Given the description of an element on the screen output the (x, y) to click on. 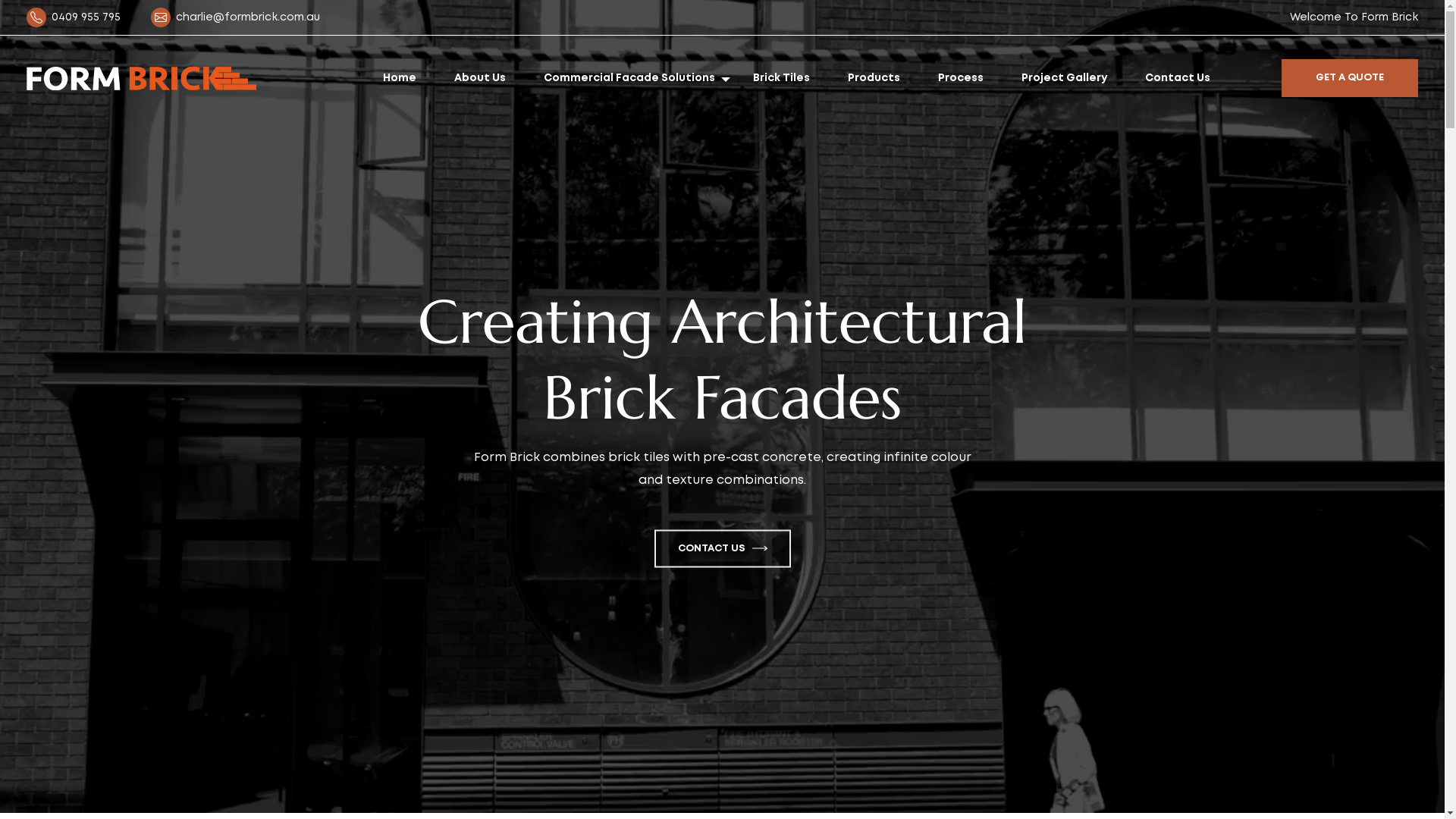
GET A QUOTE Element type: text (1349, 78)
Project Gallery Element type: text (1063, 77)
Call Us Element type: hover (38, 17)
Process Element type: text (959, 77)
charlie@formbrick.com.au Element type: text (247, 16)
0409 955 795 Element type: text (85, 16)
Contact Us Element type: text (1177, 77)
Home Element type: text (398, 77)
Brick Tiles Element type: text (780, 77)
CONTACT US Element type: text (721, 548)
Email Element type: hover (162, 17)
About Us Element type: text (479, 77)
Commercial Facade Solutions Element type: text (628, 77)
Products Element type: text (873, 77)
Form Brick Element type: hover (141, 78)
